Given the description of an element on the screen output the (x, y) to click on. 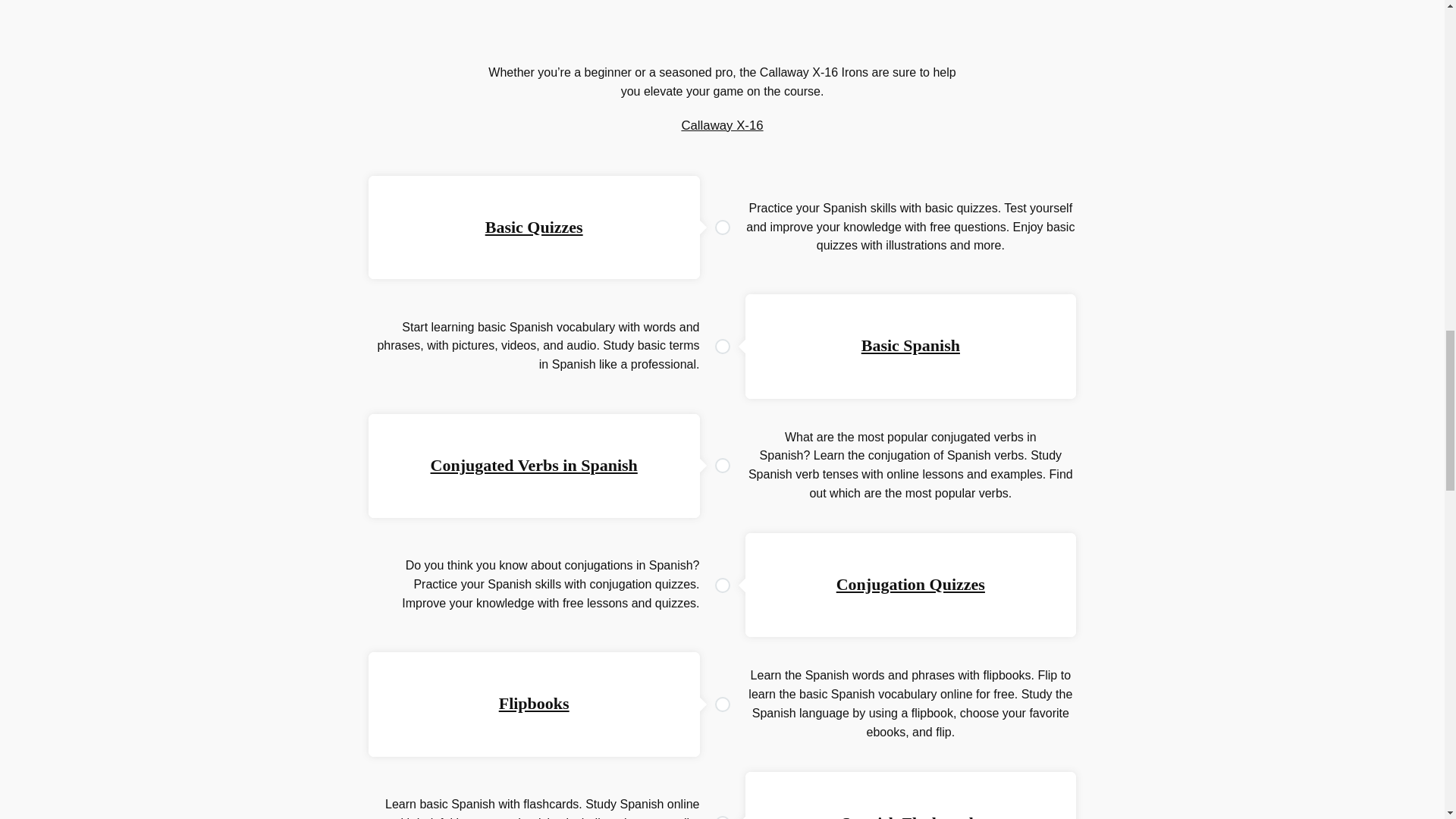
Spanish Flashcards (910, 816)
Conjugated Verbs in Spanish (533, 465)
Flipbooks (534, 702)
Conjugation Quizzes (910, 583)
Basic Spanish (910, 344)
Callaway X-16 (721, 124)
Basic Quizzes (533, 226)
